Given the description of an element on the screen output the (x, y) to click on. 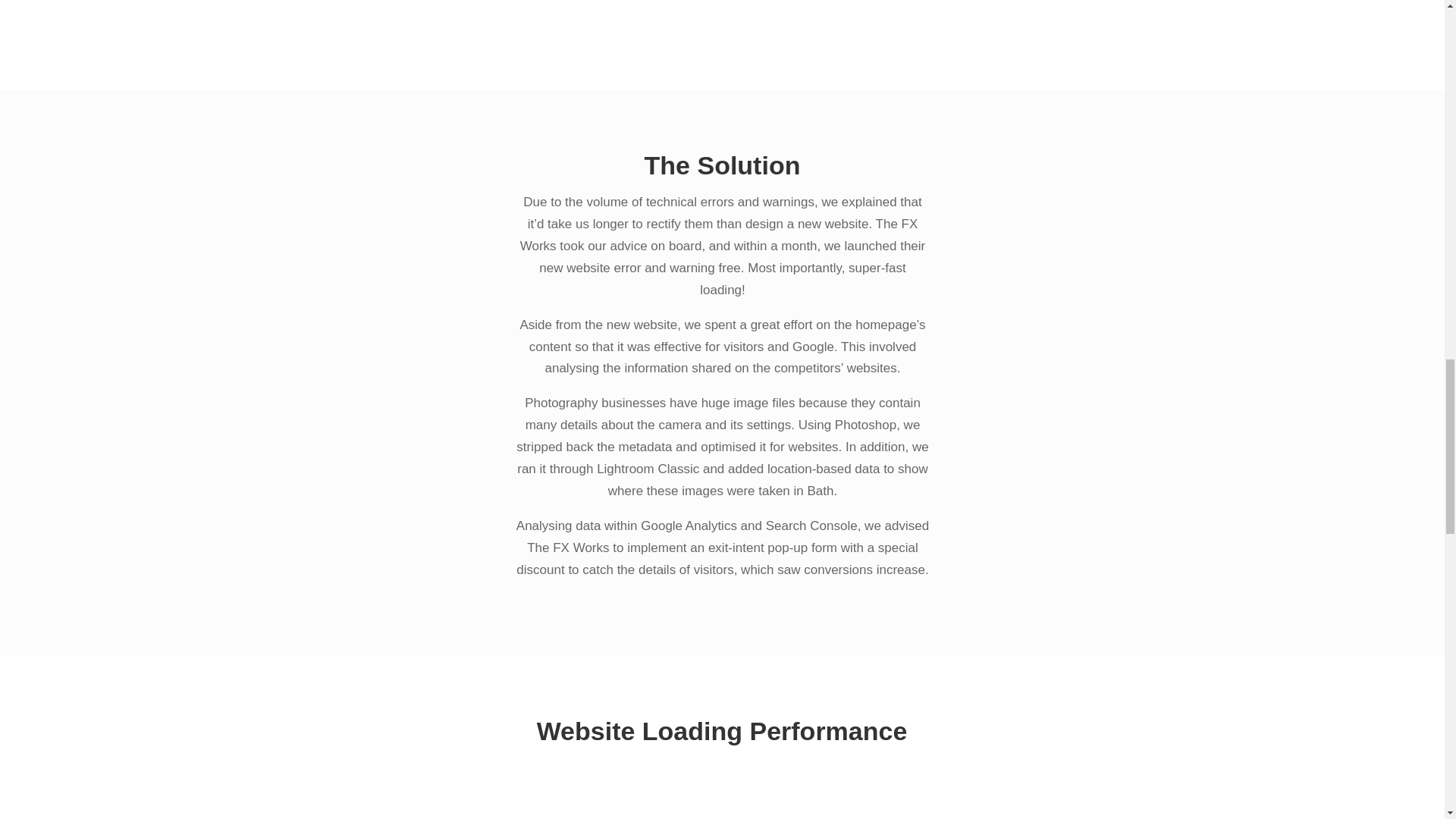
The FX Works Website Speed-Metrics (721, 792)
The FX Works Website Designed (721, 13)
